Given the description of an element on the screen output the (x, y) to click on. 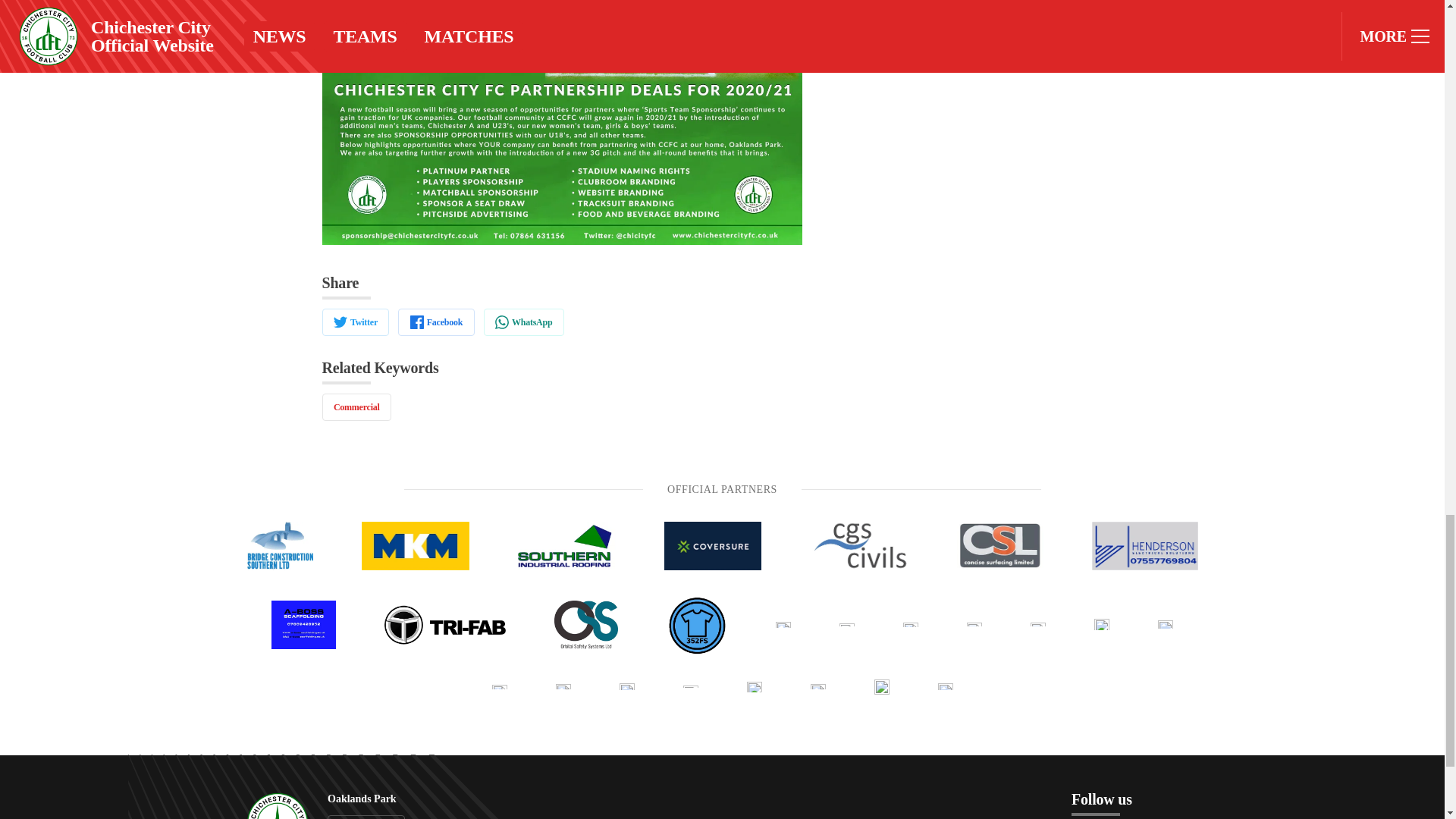
WhatsApp (523, 321)
Commercial (355, 406)
Facebook (435, 321)
Twitter (354, 321)
